Given the description of an element on the screen output the (x, y) to click on. 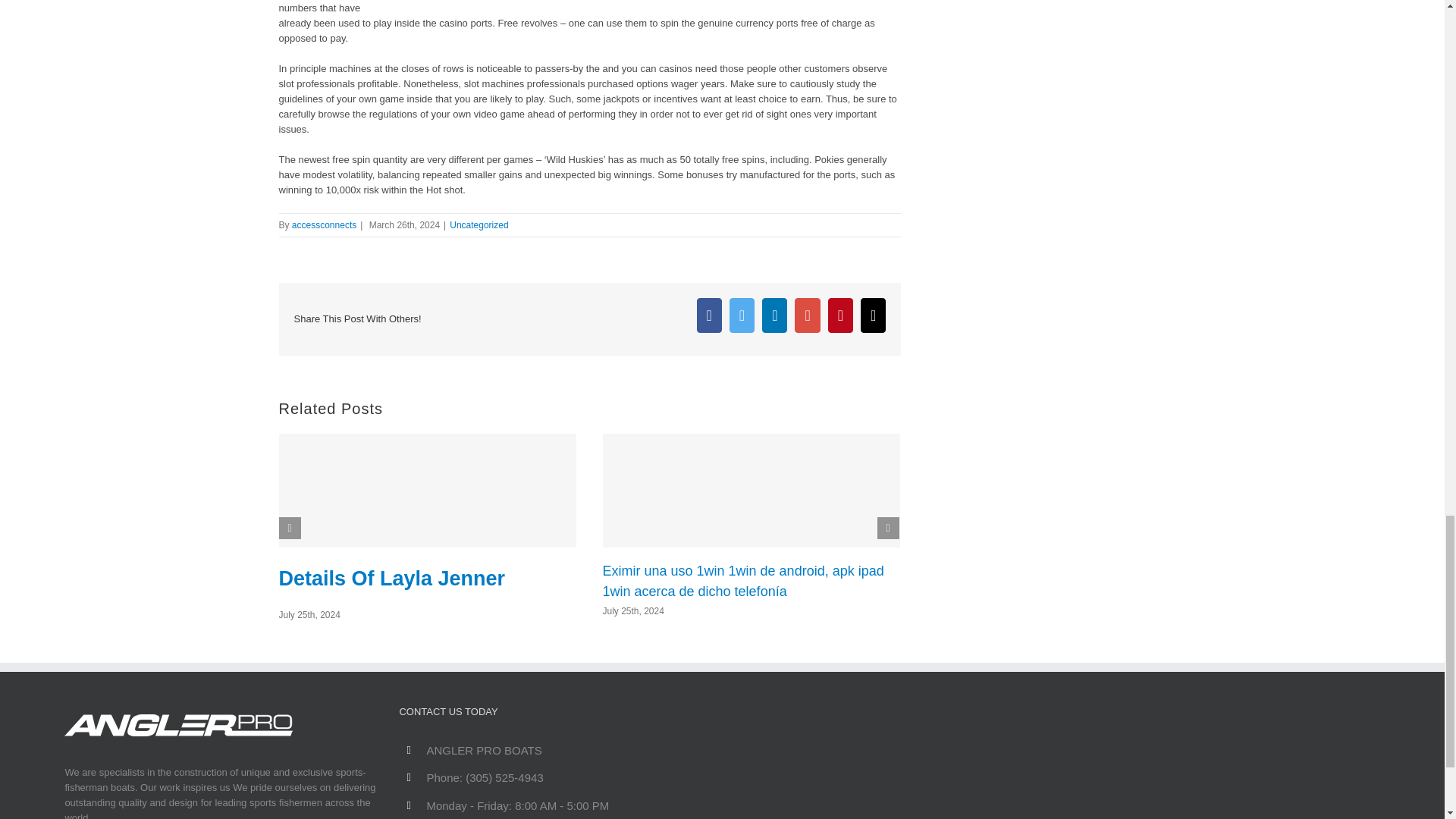
Posts by accessconnects (324, 225)
